Given the description of an element on the screen output the (x, y) to click on. 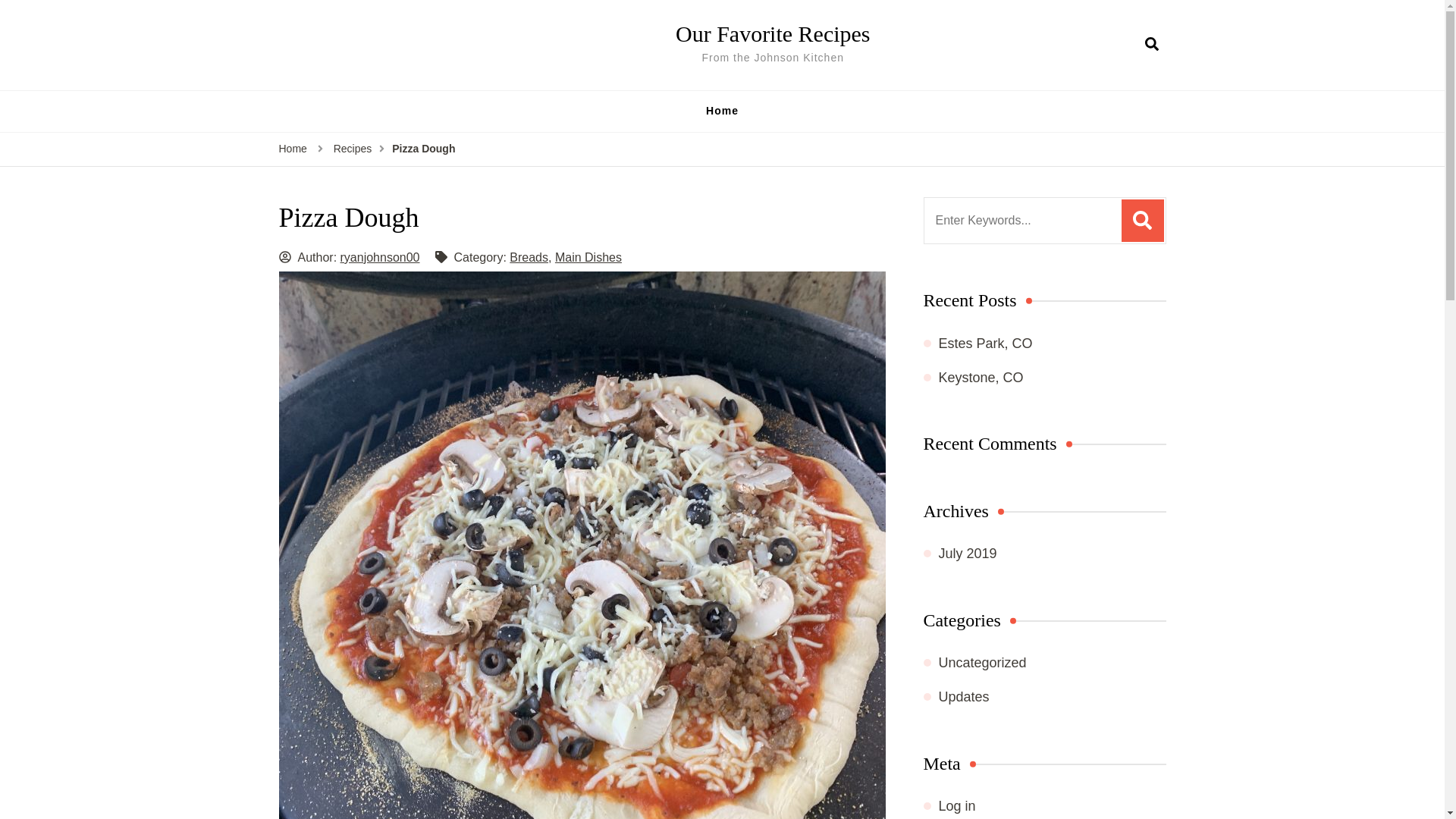
Search (1141, 220)
Search (1141, 220)
Our Favorite Recipes (772, 33)
Uncategorized (982, 662)
Recipes (352, 149)
ryanjohnson00 (380, 256)
Pizza Dough (422, 149)
July 2019 (968, 553)
Keystone, CO (981, 377)
Updates (964, 696)
